Given the description of an element on the screen output the (x, y) to click on. 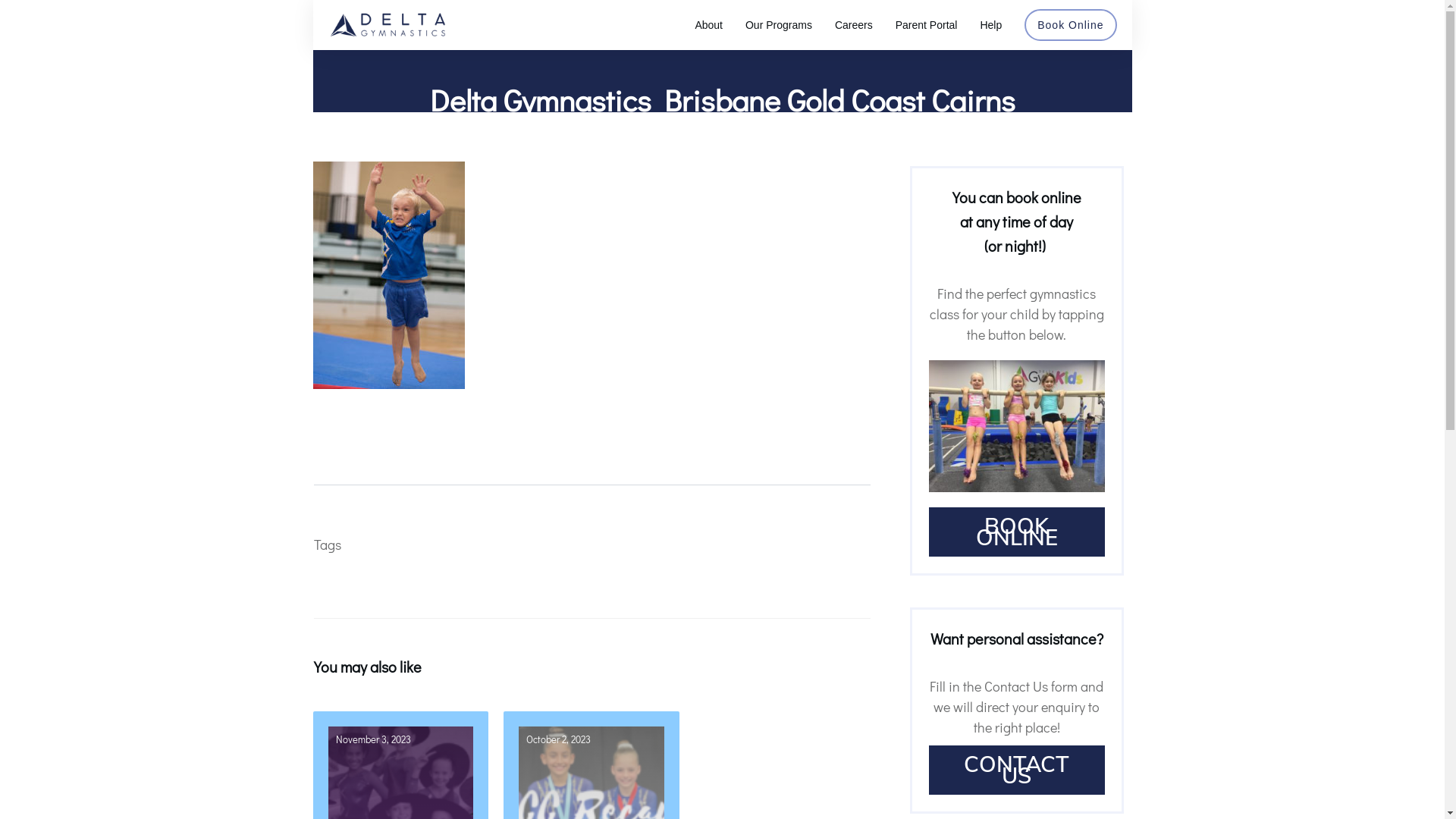
Careers Element type: text (853, 24)
Parent Portal Element type: text (926, 24)
Book Online Element type: text (1070, 24)
Our Programs Element type: text (778, 24)
Help Element type: text (990, 24)
About Element type: text (708, 24)
BOOK ONLINE Element type: text (1016, 531)
IMG_5163 Element type: hover (1016, 426)
CONTACT US Element type: text (1016, 769)
